Given the description of an element on the screen output the (x, y) to click on. 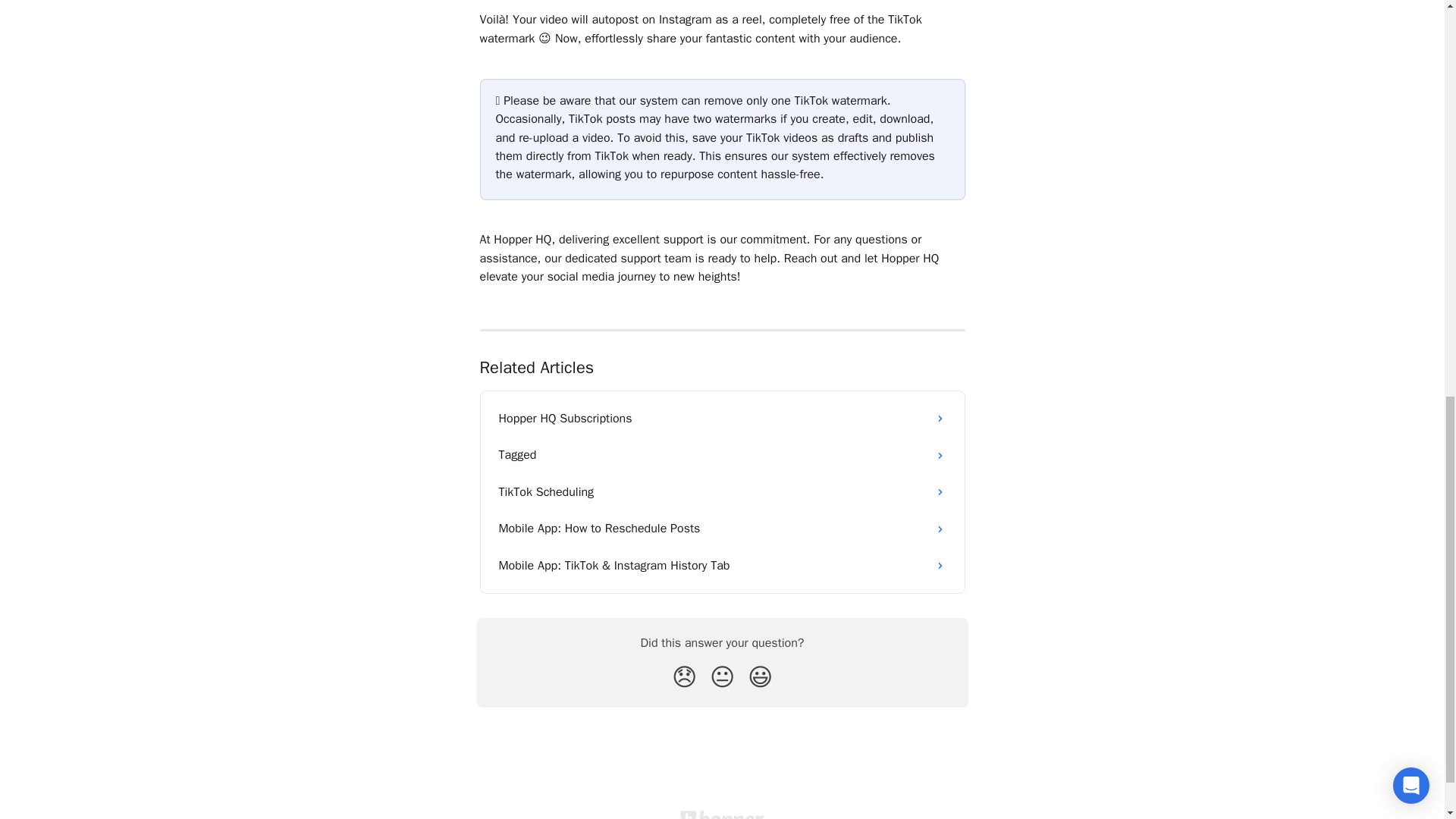
TikTok Scheduling (722, 492)
Hopper HQ Subscriptions (722, 418)
Mobile App: How to Reschedule Posts (722, 528)
Tagged (722, 454)
